Given the description of an element on the screen output the (x, y) to click on. 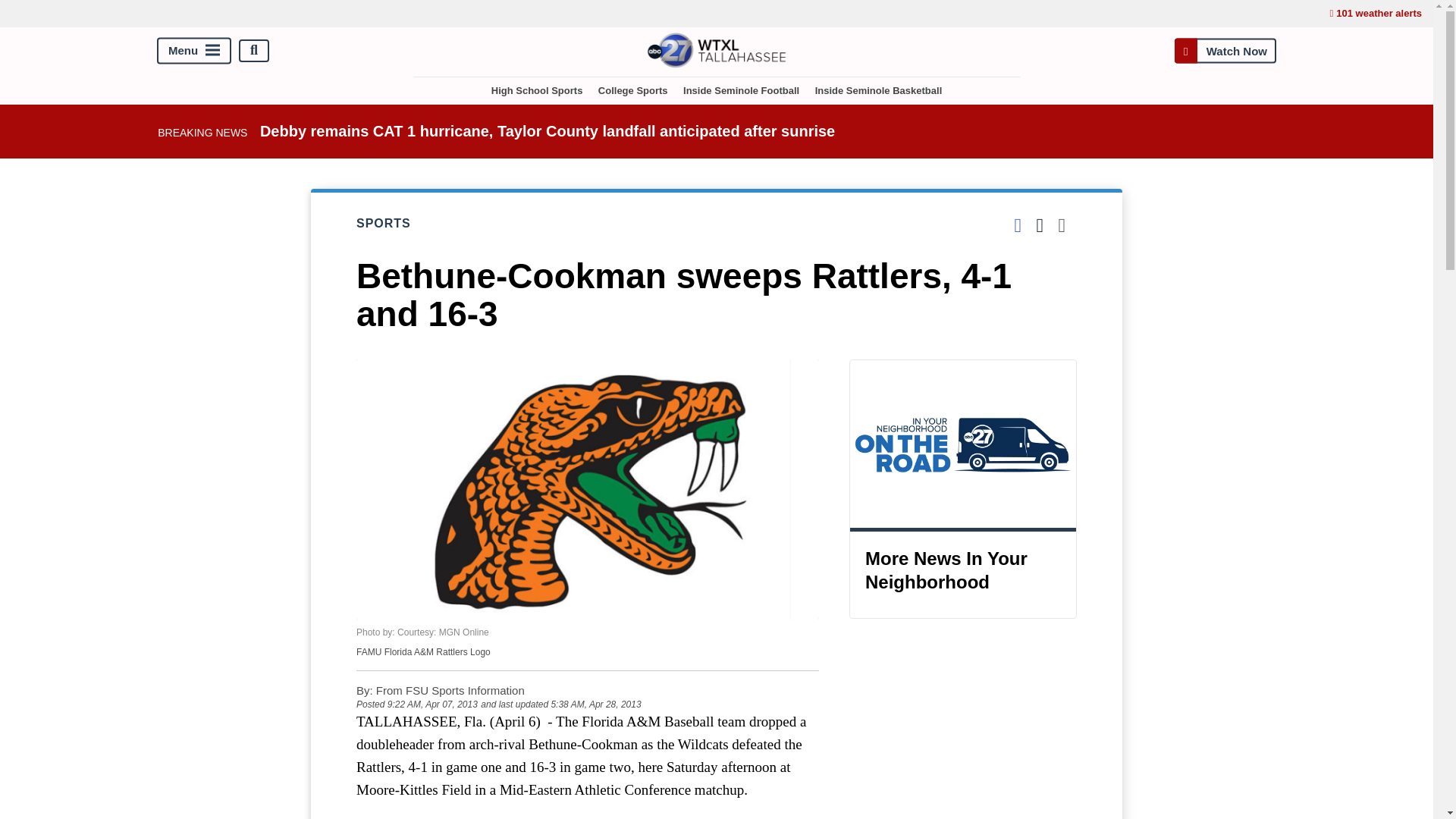
Menu (194, 49)
Watch Now (1224, 50)
